Given the description of an element on the screen output the (x, y) to click on. 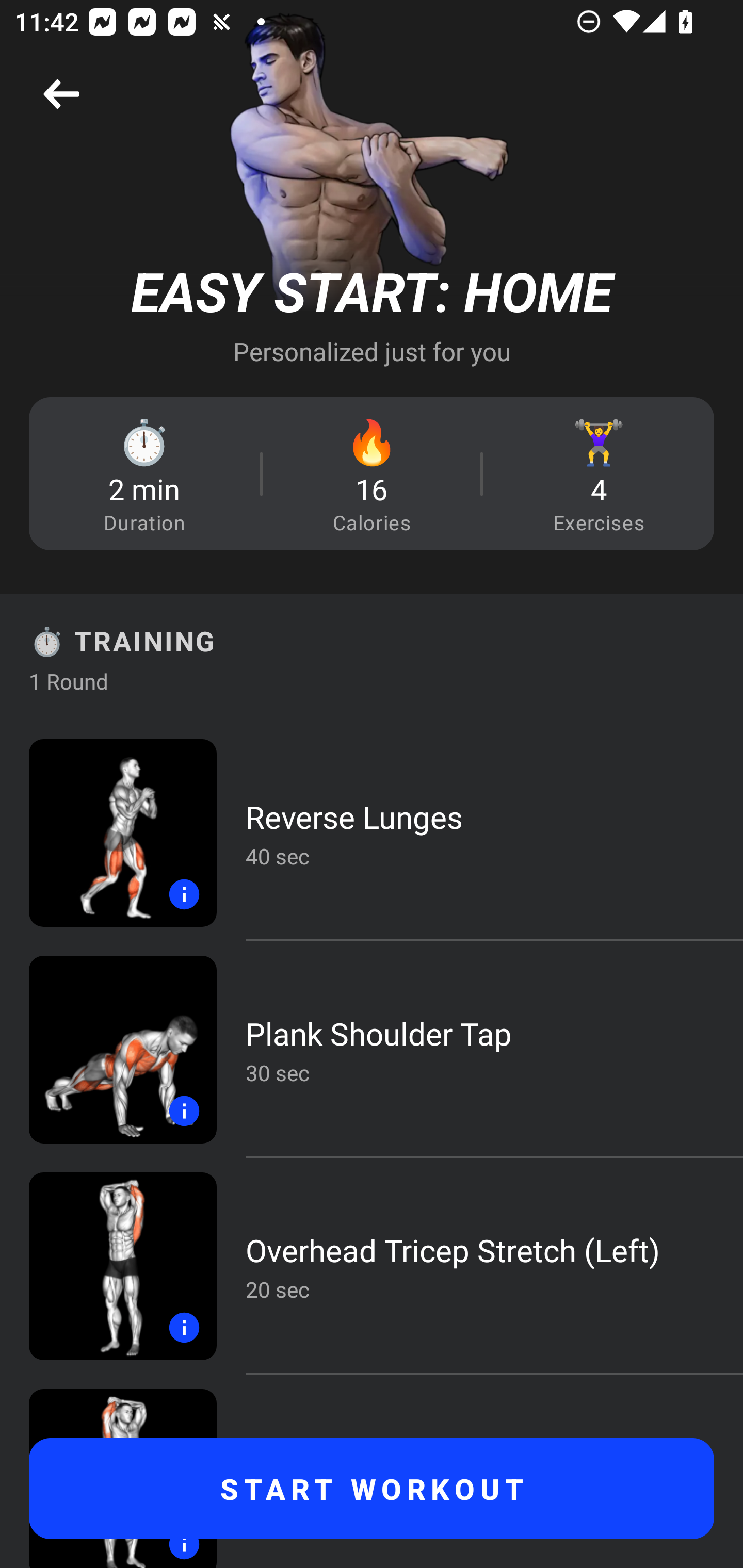
Reverse Lunges 40 sec (371, 832)
Plank Shoulder Tap 30 sec (371, 1048)
Overhead Tricep Stretch (Left) 20 sec (371, 1266)
START WORKOUT (371, 1488)
